Given the description of an element on the screen output the (x, y) to click on. 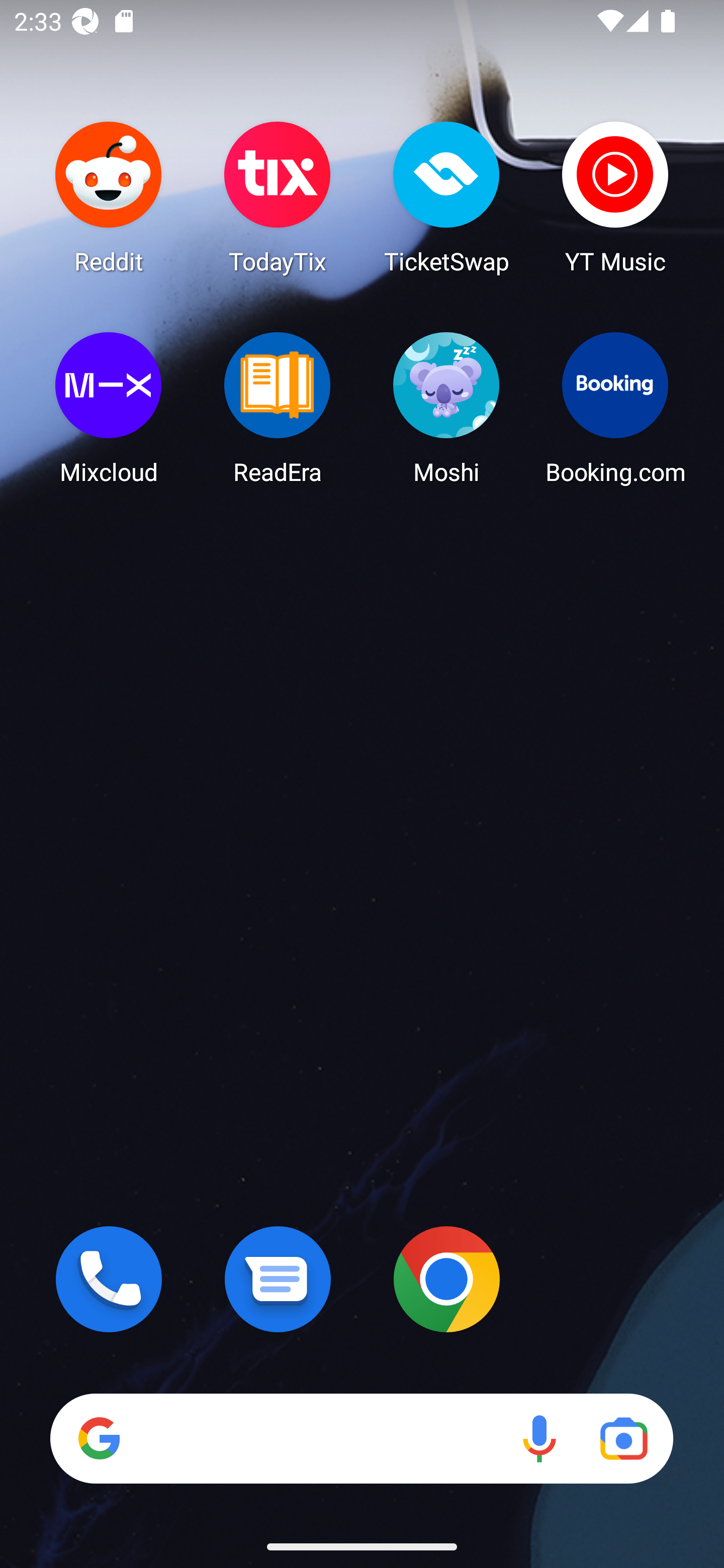
Reddit (108, 196)
TodayTix (277, 196)
TicketSwap (445, 196)
YT Music (615, 196)
Mixcloud (108, 407)
ReadEra (277, 407)
Moshi (445, 407)
Booking.com (615, 407)
Phone (108, 1279)
Messages (277, 1279)
Chrome (446, 1279)
Search Voice search Google Lens (361, 1438)
Voice search (539, 1438)
Google Lens (623, 1438)
